Given the description of an element on the screen output the (x, y) to click on. 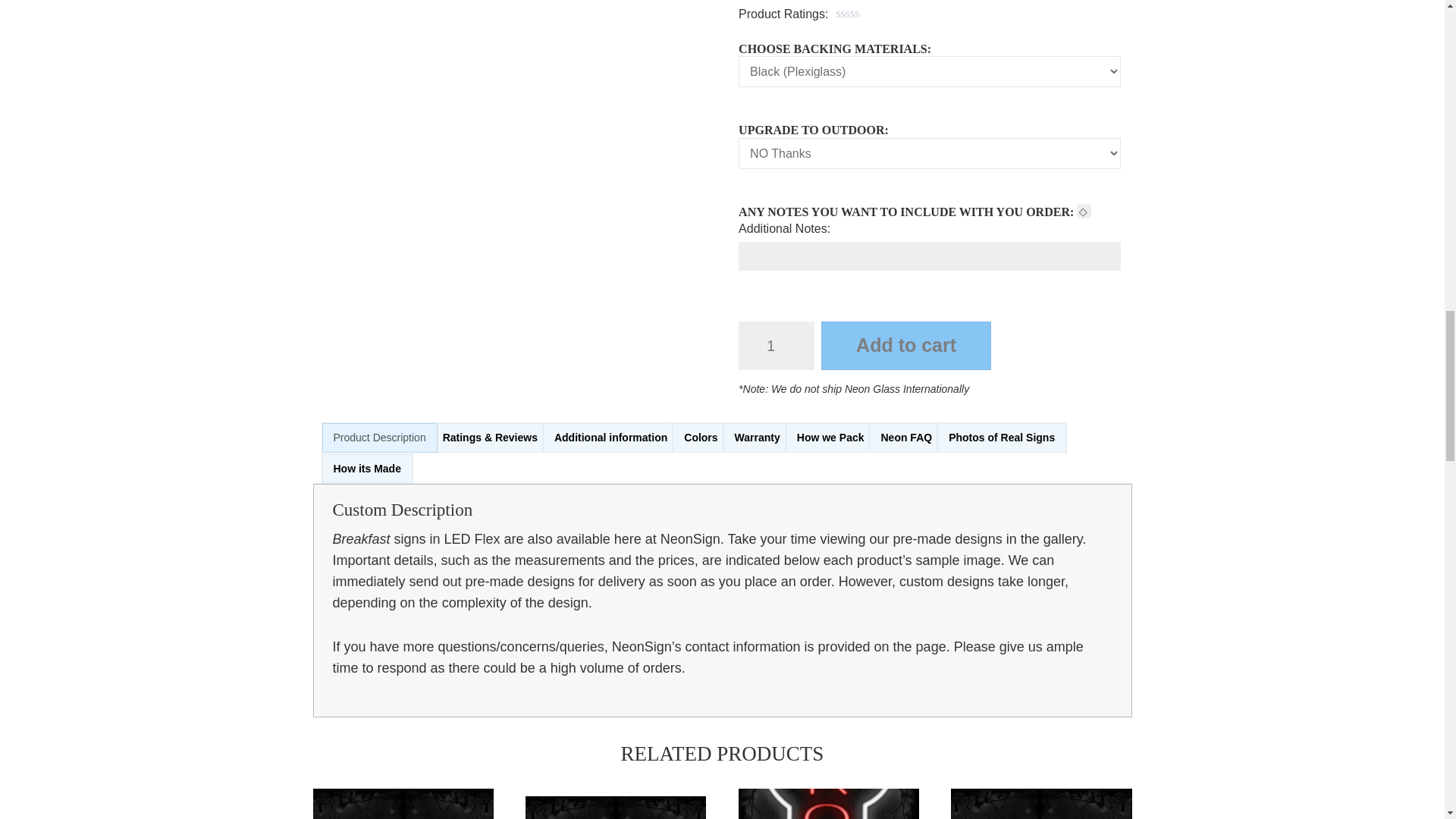
Additional information (610, 437)
Product Description (378, 437)
Colors (700, 437)
How we Pack (831, 437)
Neon FAQ (906, 437)
Add to cart (906, 345)
Qty (775, 345)
Warranty (757, 437)
1 (775, 345)
